Given the description of an element on the screen output the (x, y) to click on. 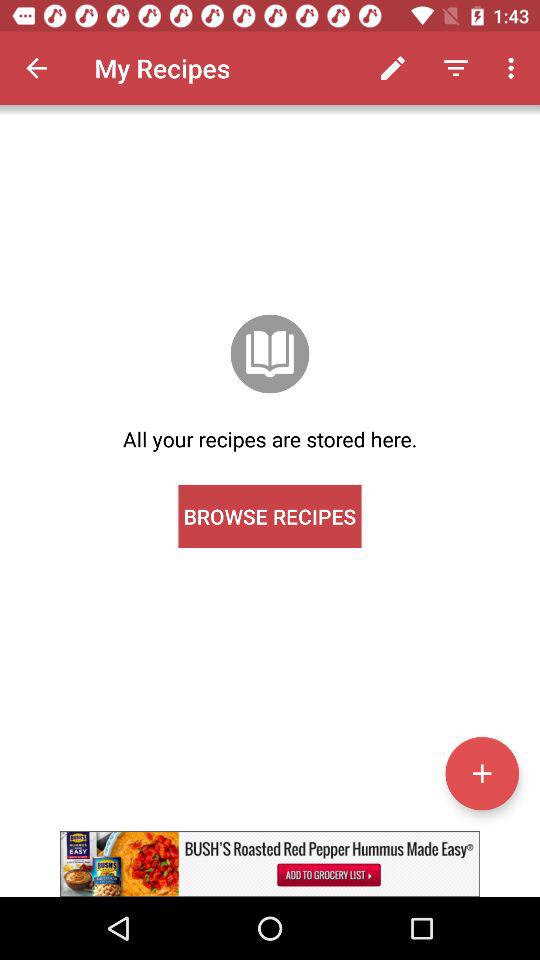
address (482, 773)
